Given the description of an element on the screen output the (x, y) to click on. 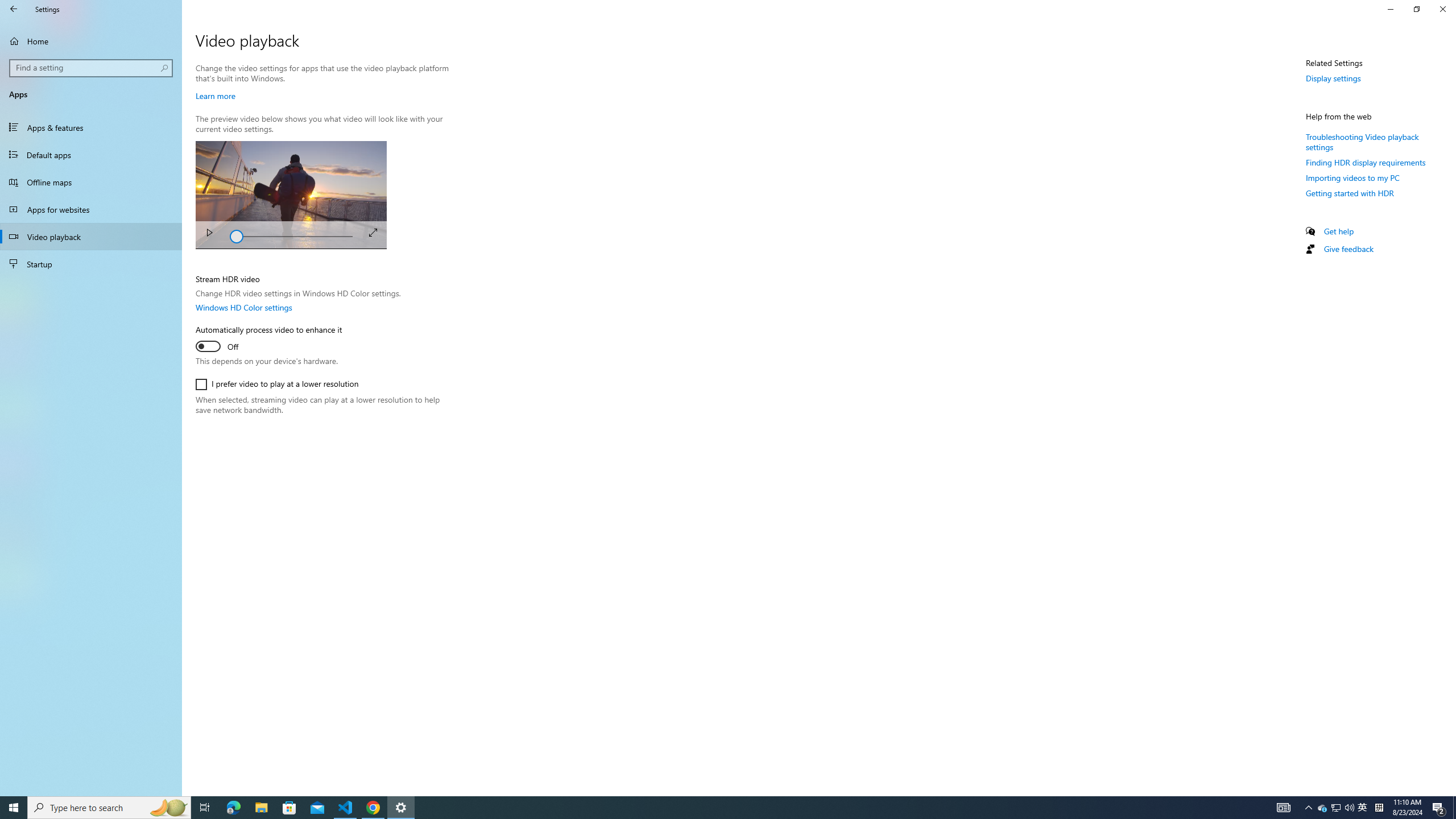
Getting started with HDR (1349, 192)
Play (208, 234)
Close Settings (1442, 9)
I prefer video to play at a lower resolution (276, 384)
Apps for websites (91, 208)
Finding HDR display requirements (1365, 162)
Seek (291, 235)
Troubleshooting Video playback settings (1362, 141)
Video playback (91, 236)
Restore Settings (1416, 9)
Default apps (91, 154)
Full Screen (373, 232)
Get help (1338, 231)
Apps & features (91, 126)
Offline maps (91, 181)
